Given the description of an element on the screen output the (x, y) to click on. 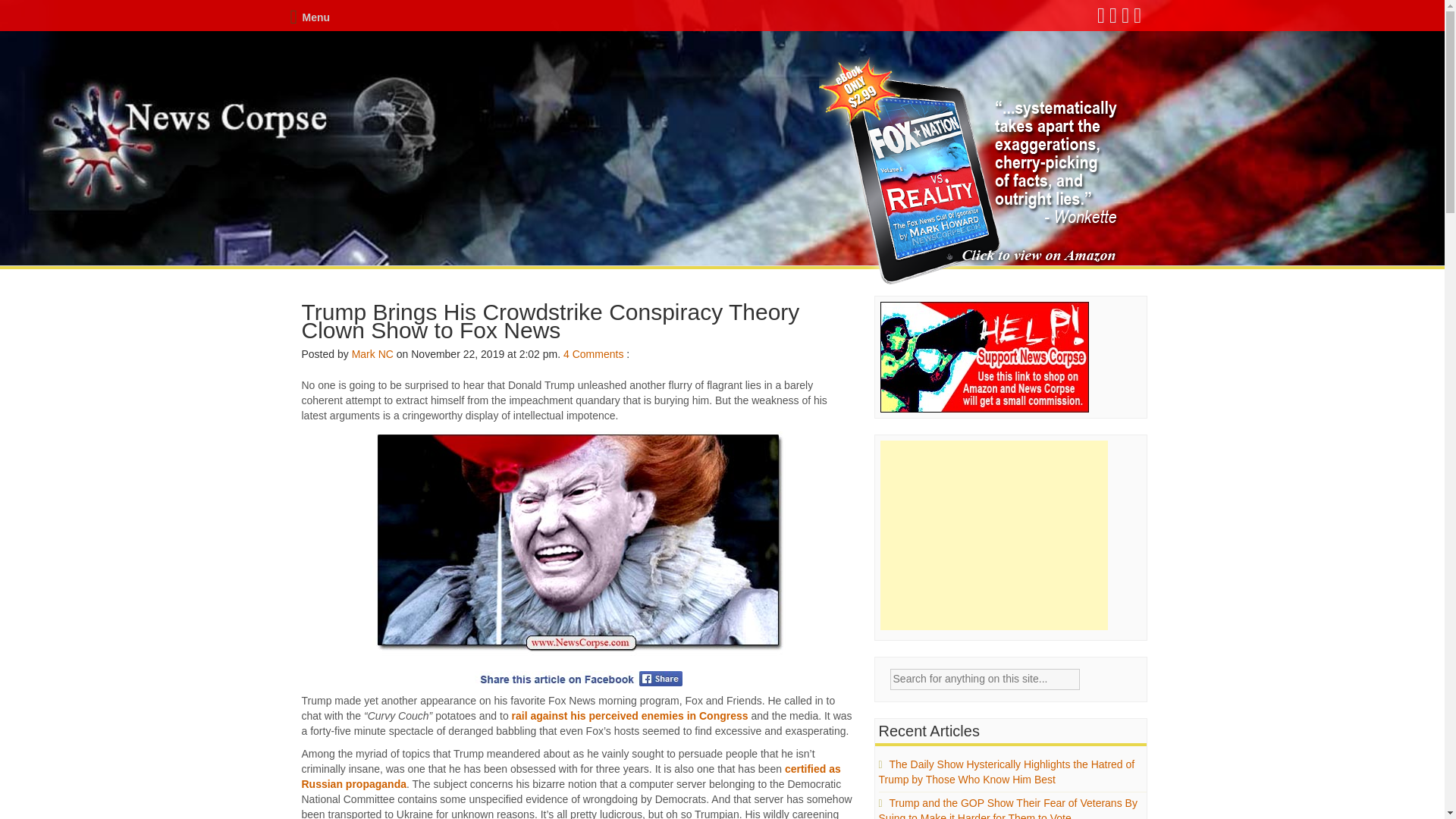
Share on Facebook (578, 678)
Posts by Mark NC (372, 354)
Comments (598, 354)
Mark NC (372, 354)
certified as Russian propaganda (571, 776)
Menu (309, 17)
rail against his perceived enemies in Congress (630, 715)
Fox Nation vs. Reality (971, 170)
